Given the description of an element on the screen output the (x, y) to click on. 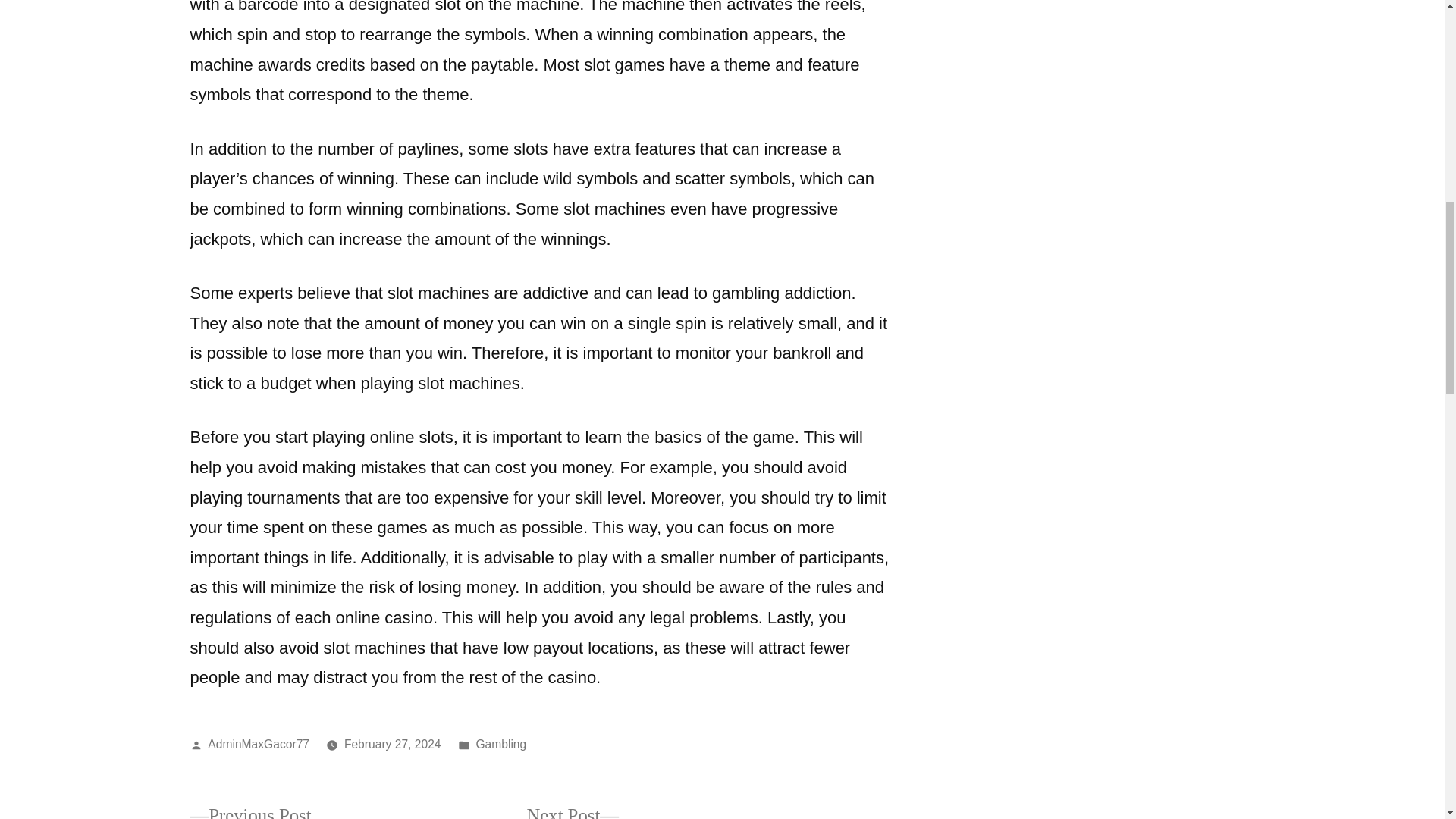
February 27, 2024 (392, 744)
AdminMaxGacor77 (258, 744)
Gambling (500, 744)
